Given the description of an element on the screen output the (x, y) to click on. 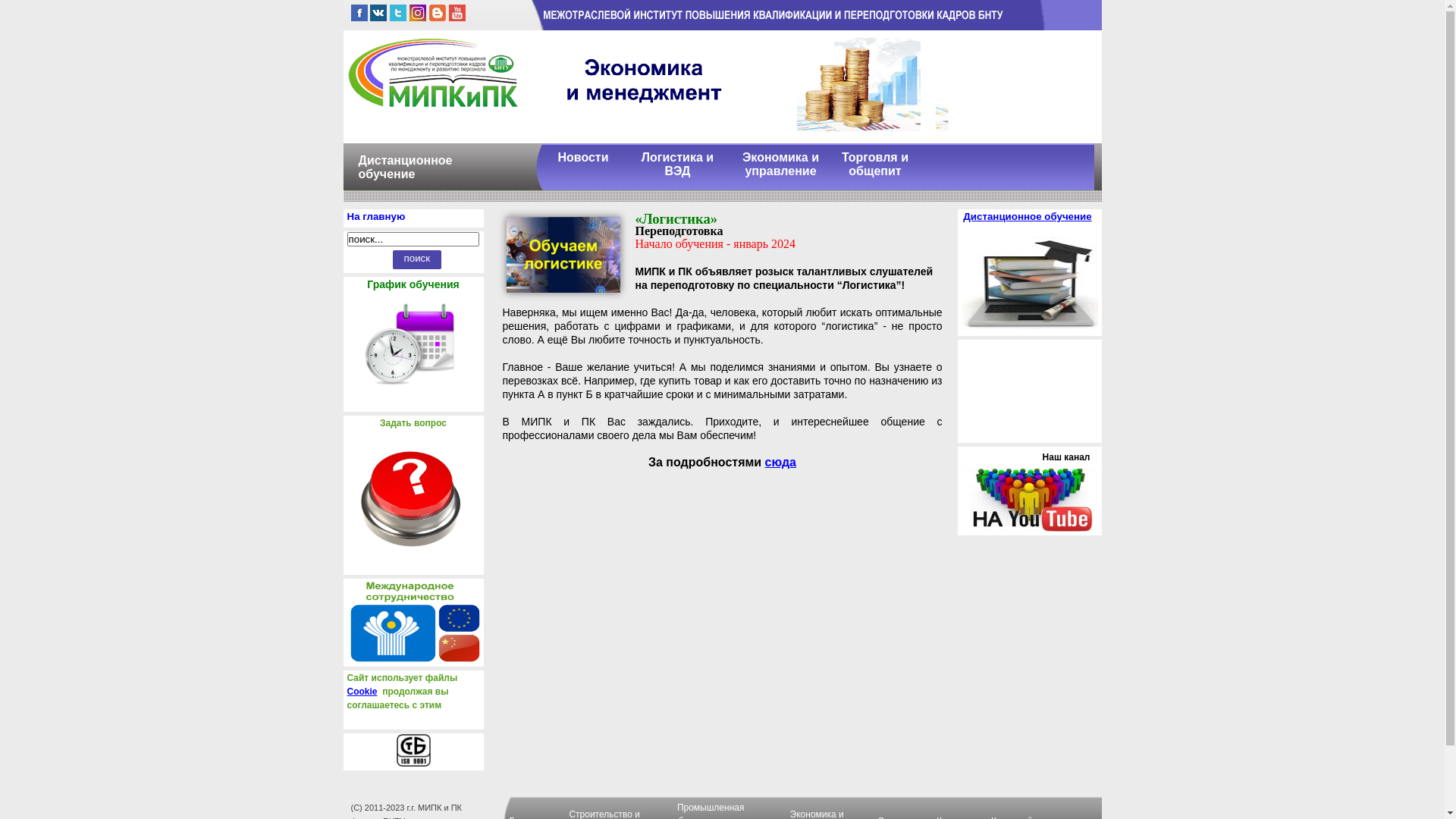
Cookie Element type: text (362, 691)
